Given the description of an element on the screen output the (x, y) to click on. 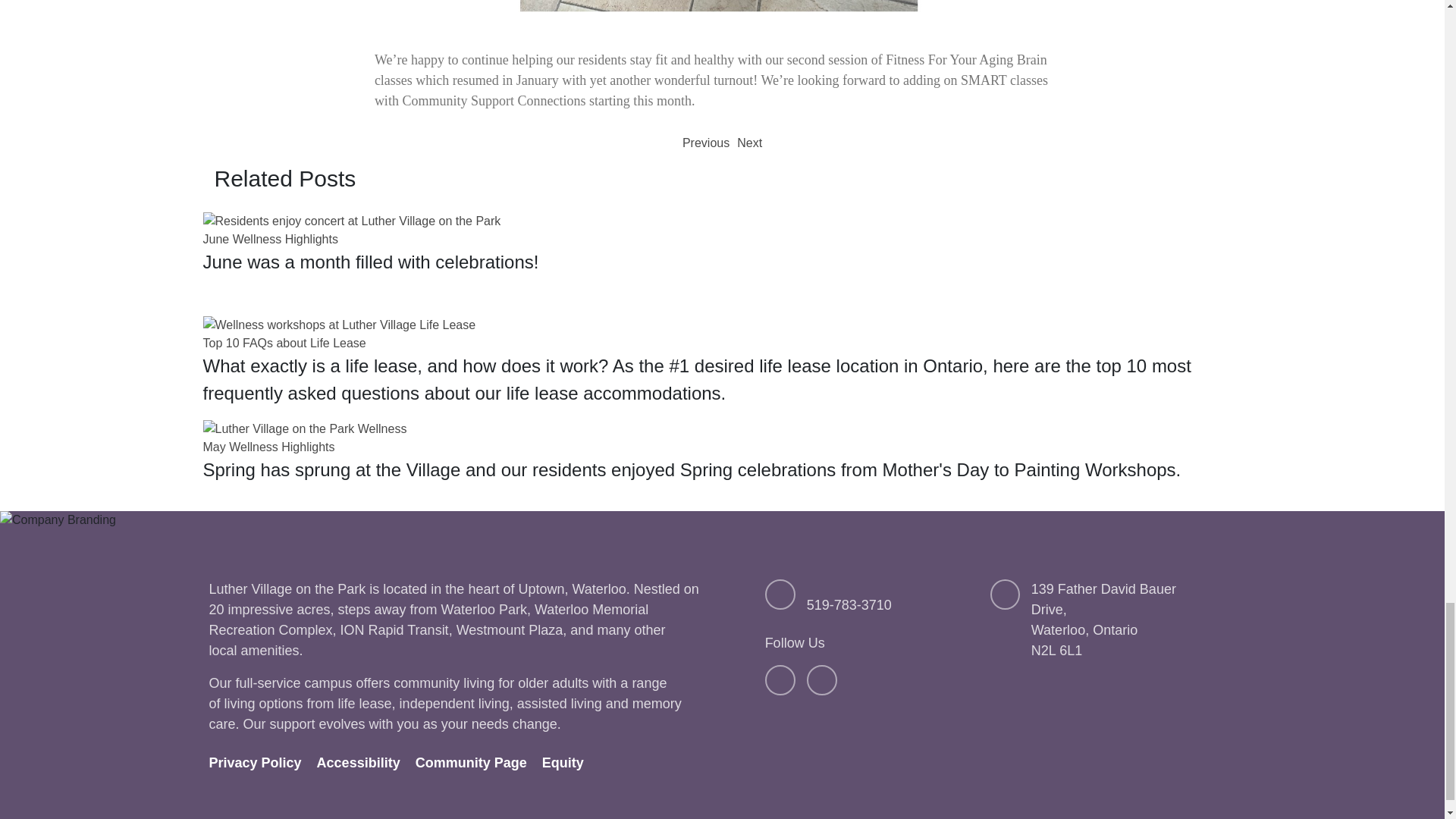
Next (748, 143)
Privacy Policy (263, 762)
519-783-3710 (848, 604)
Previous (705, 143)
May Wellness Highlights (268, 446)
June Wellness Highlights (270, 238)
Top 10 FAQs about Life Lease (285, 342)
